Given the description of an element on the screen output the (x, y) to click on. 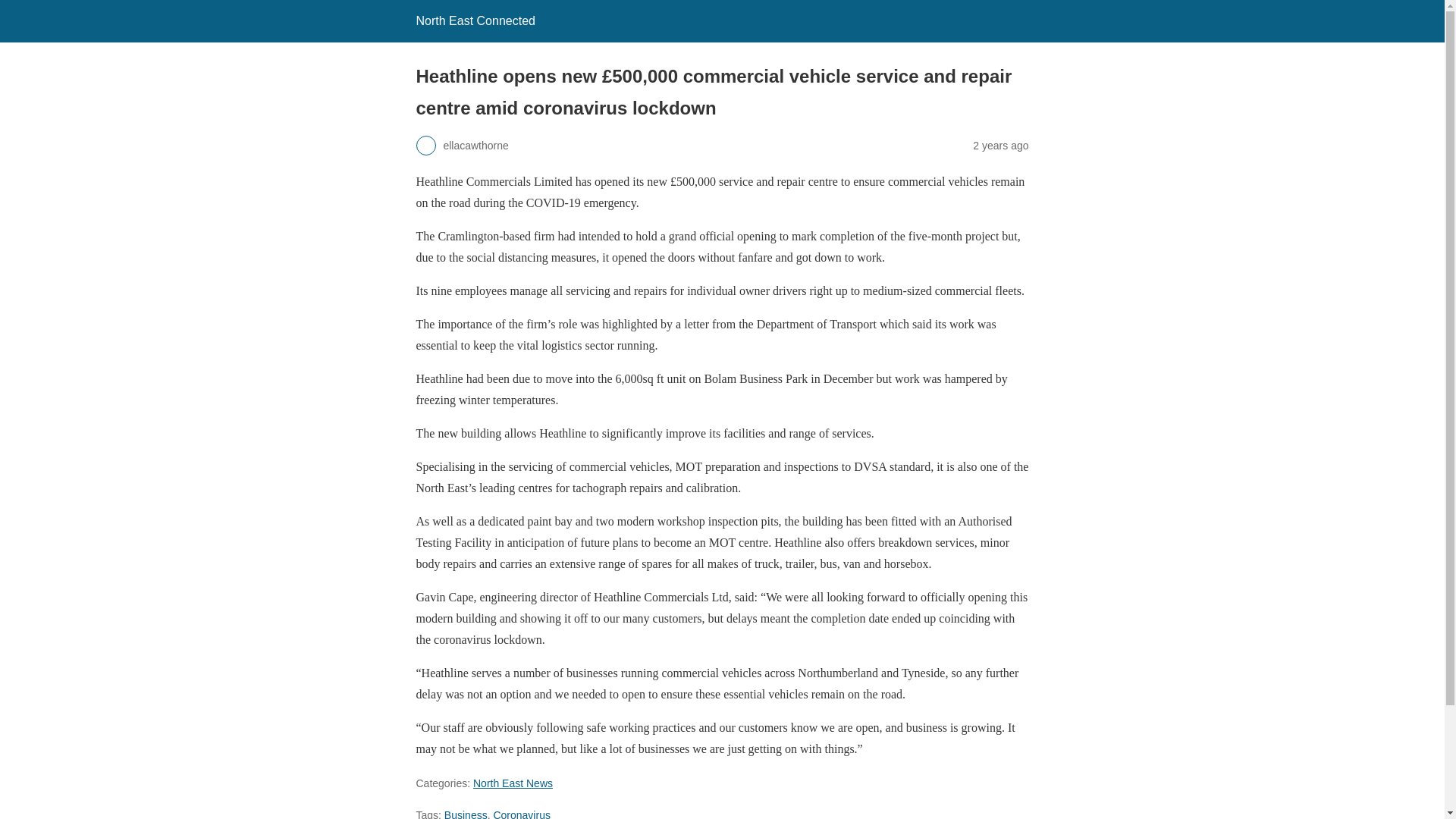
North East Connected (474, 20)
Business (465, 814)
Coronavirus (521, 814)
North East News (513, 783)
